Given the description of an element on the screen output the (x, y) to click on. 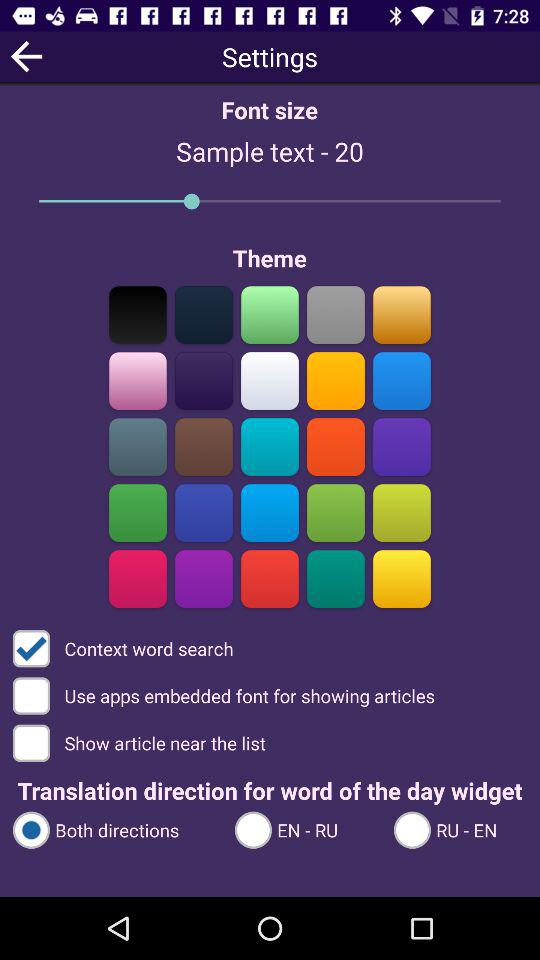
set the text colour (137, 380)
